Given the description of an element on the screen output the (x, y) to click on. 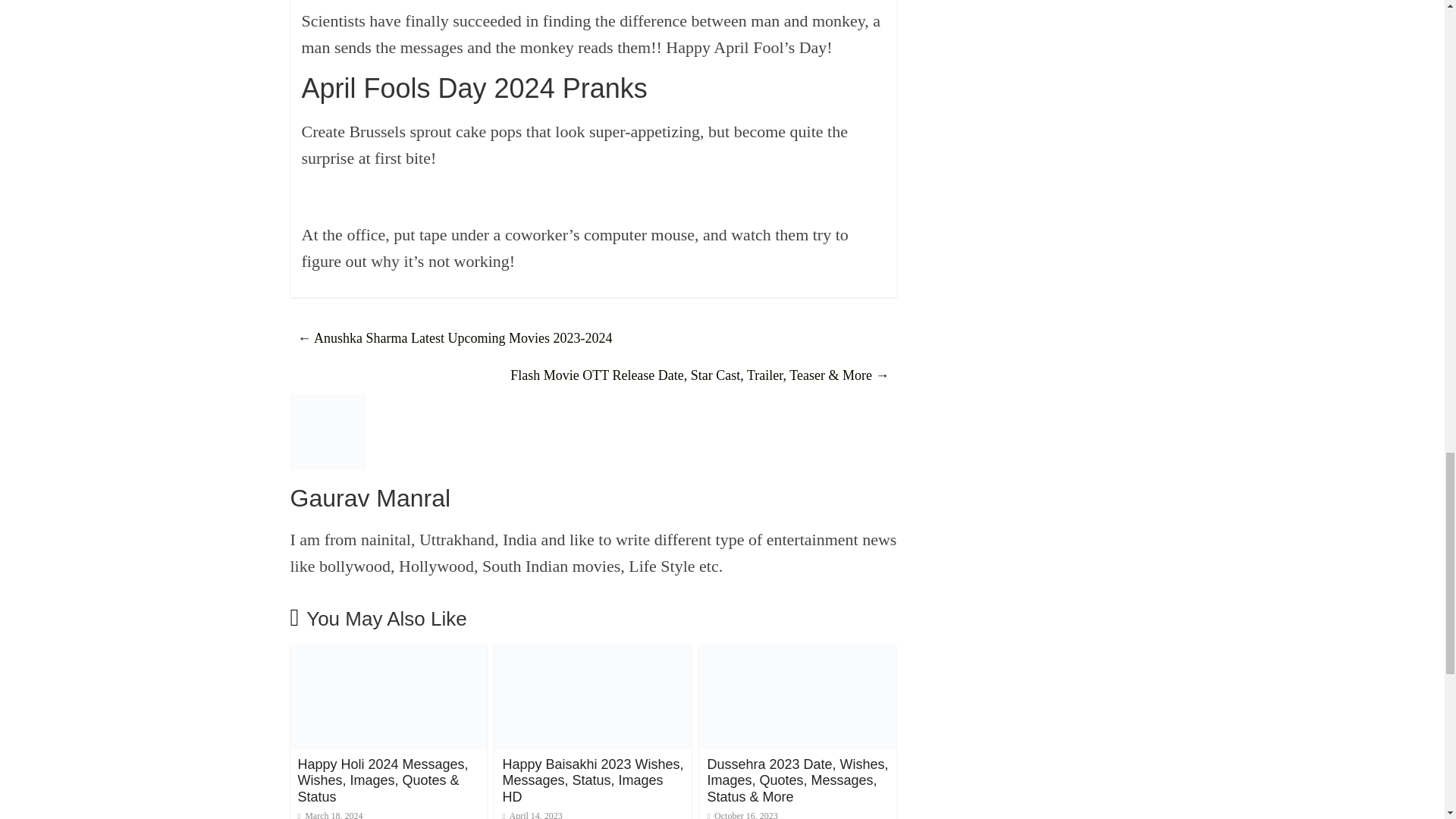
8:07 am (532, 814)
March 18, 2024 (329, 814)
Happy Baisakhi 2023 Wishes, Messages, Status, Images HD (592, 780)
October 16, 2023 (741, 814)
Happy Baisakhi 2023 Wishes, Messages, Status, Images HD (593, 654)
Happy Baisakhi 2023 Wishes, Messages, Status, Images HD (592, 780)
8:52 pm (329, 814)
April 14, 2023 (532, 814)
